Given the description of an element on the screen output the (x, y) to click on. 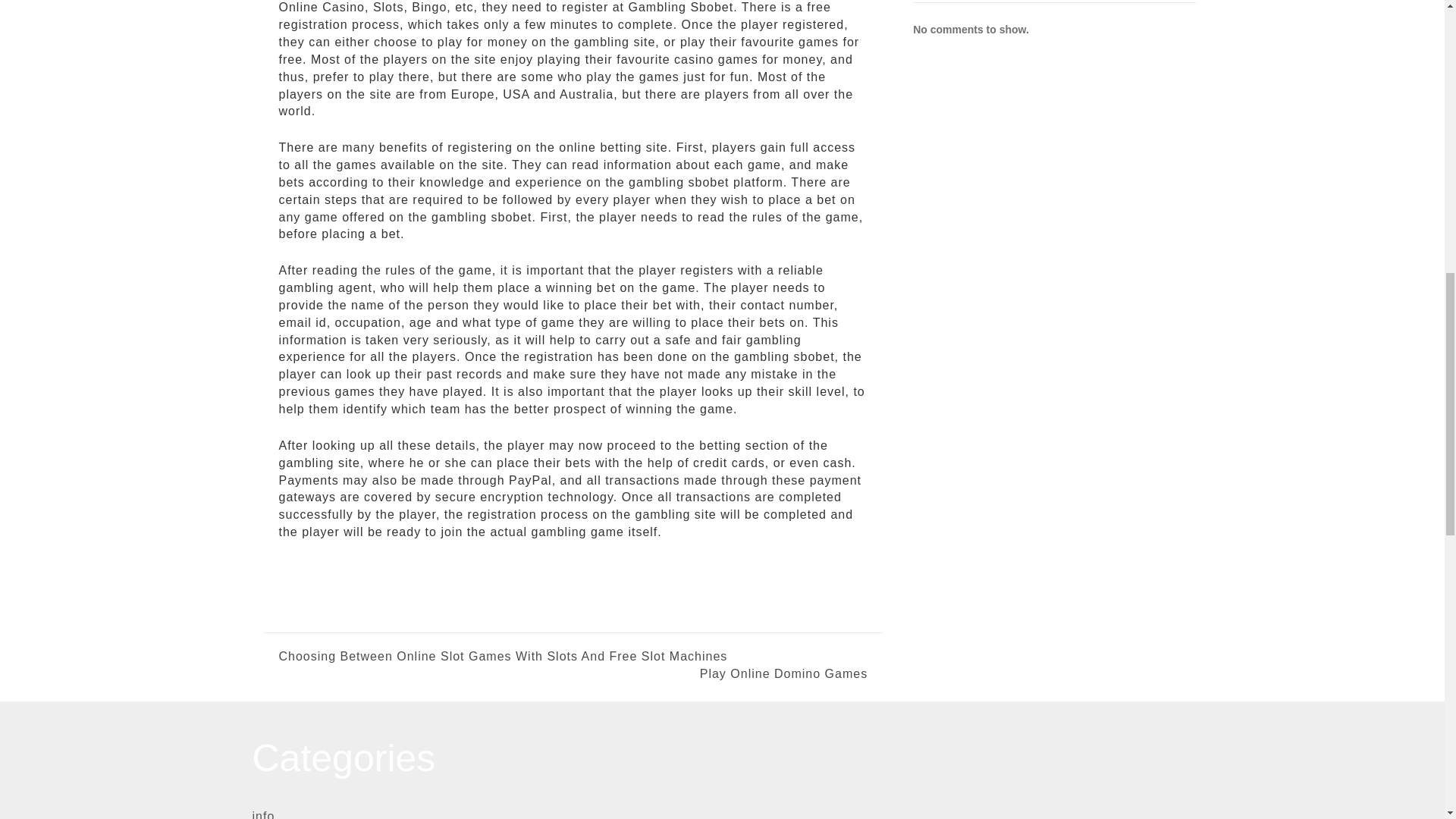
info (263, 814)
Play Online Domino Games (720, 674)
